Given the description of an element on the screen output the (x, y) to click on. 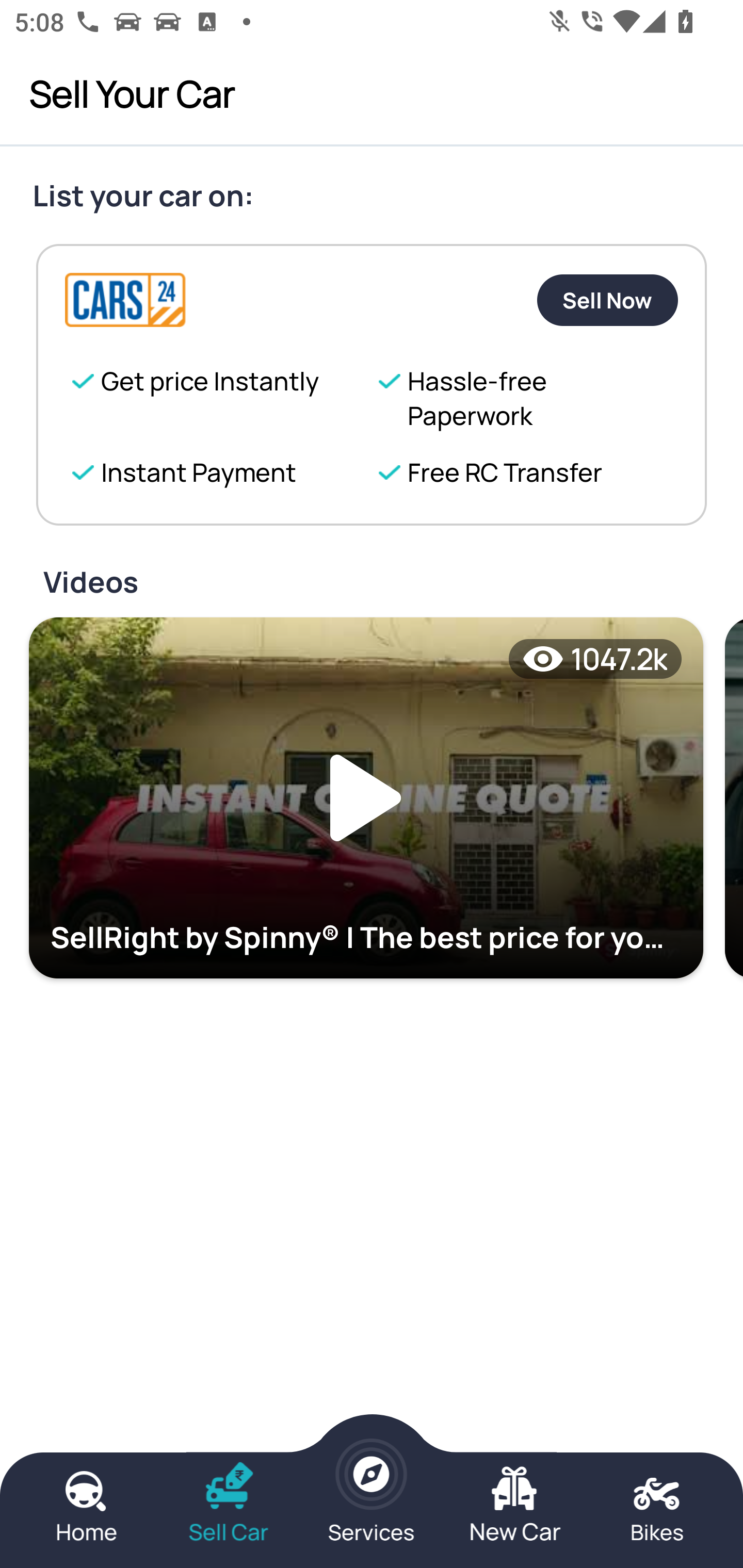
Sell Now (607, 300)
